Given the description of an element on the screen output the (x, y) to click on. 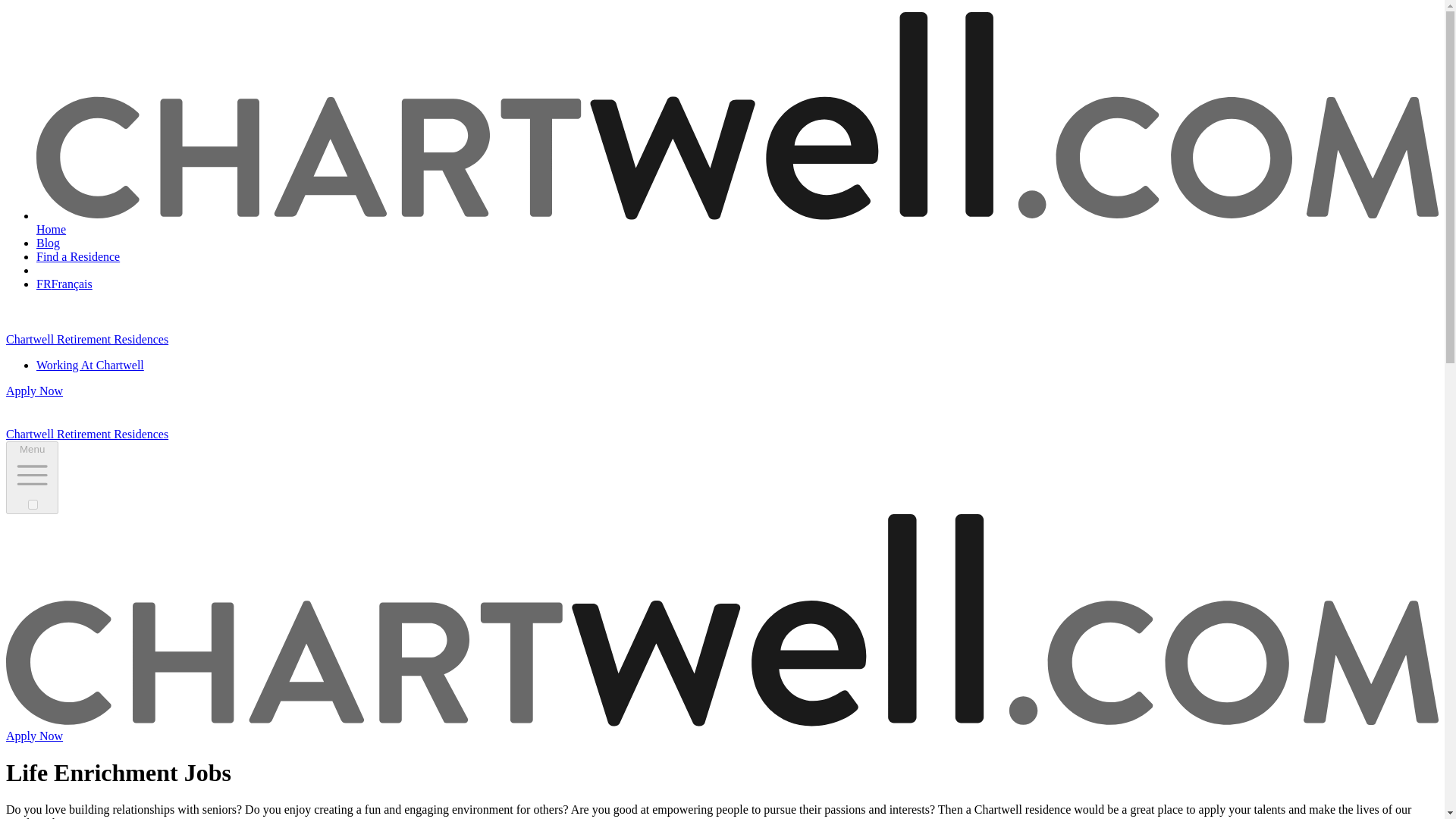
on (32, 504)
Blog (47, 242)
Chartwell Retirement Residences (205, 338)
Working At Chartwell (90, 364)
Chartwell Retirement Residences (205, 433)
Menu (31, 477)
Working At Chartwell (90, 364)
Find a Residence (77, 256)
Apply Now (33, 390)
Apply Now (33, 735)
